Given the description of an element on the screen output the (x, y) to click on. 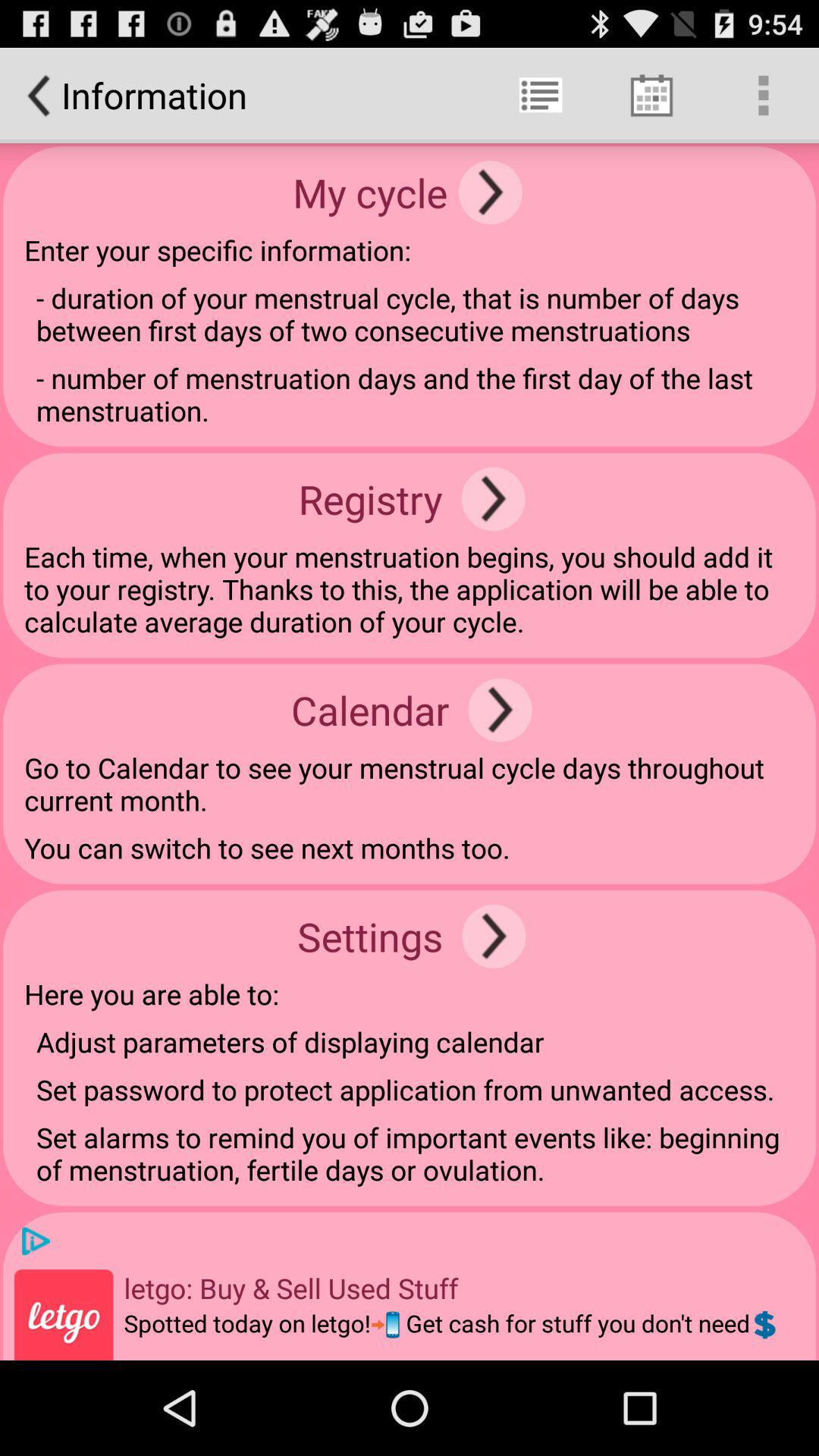
tap item to the right of settings (493, 936)
